Given the description of an element on the screen output the (x, y) to click on. 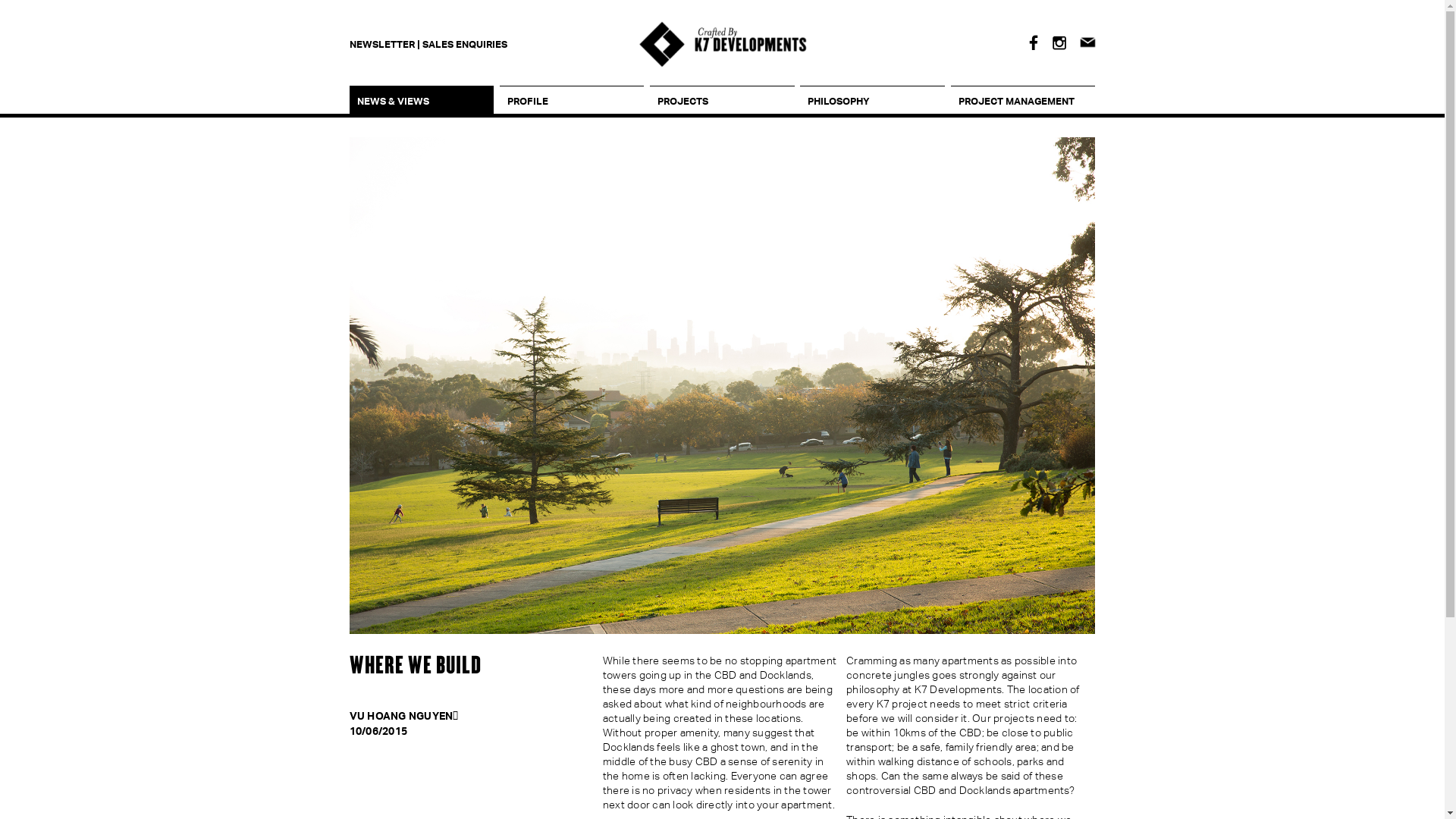
PROJECTS Element type: text (715, 100)
PROJECT MANAGEMENT Element type: text (1016, 100)
WHERE WE BUILD Element type: text (414, 665)
SALES ENQUIRIES Element type: text (463, 43)
NEWSLETTER Element type: text (381, 43)
K7 Developments Element type: text (722, 43)
PROFILE Element type: text (565, 100)
NEWS & VIEWS Element type: text (414, 100)
PHILOSOPHY Element type: text (866, 100)
